Given the description of an element on the screen output the (x, y) to click on. 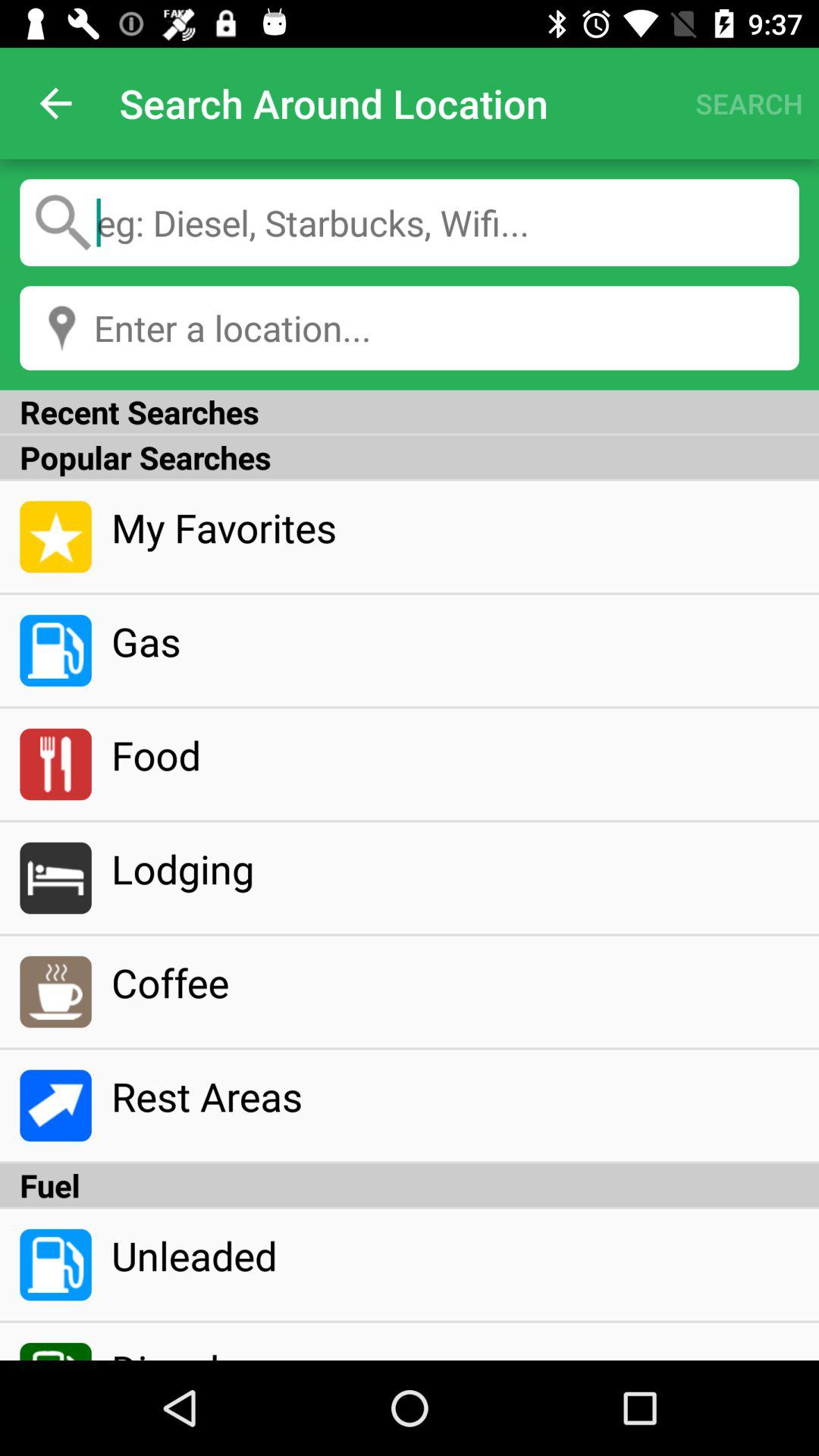
select my favorites item (455, 527)
